Given the description of an element on the screen output the (x, y) to click on. 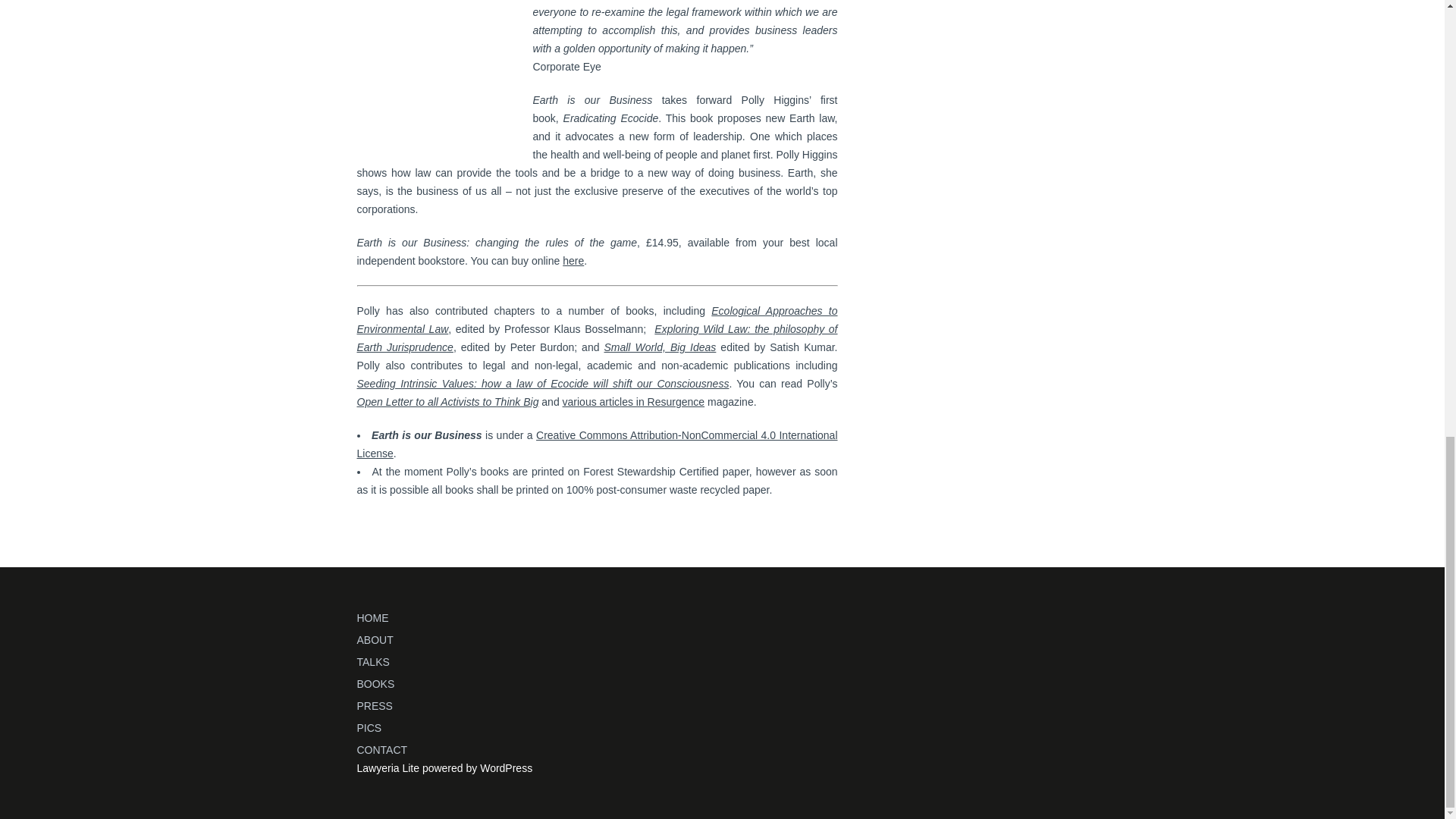
 Exploring Wild Law: the philosophy of earth jurisprudence  (596, 337)
PRESS (373, 705)
ABOUT (374, 639)
various articles in Resurgence (633, 401)
Polly Higgins Earth is our Business (572, 260)
Open Letter To All Grassroots Activists (447, 401)
Exploring Wild Law: the philosophy of Earth Jurisprudence (596, 337)
TALKS (372, 662)
Small World Big Ideas (660, 346)
HOME (372, 617)
CONTACT (381, 749)
BOOKS (375, 684)
Small World, Big Ideas (660, 346)
